Given the description of an element on the screen output the (x, y) to click on. 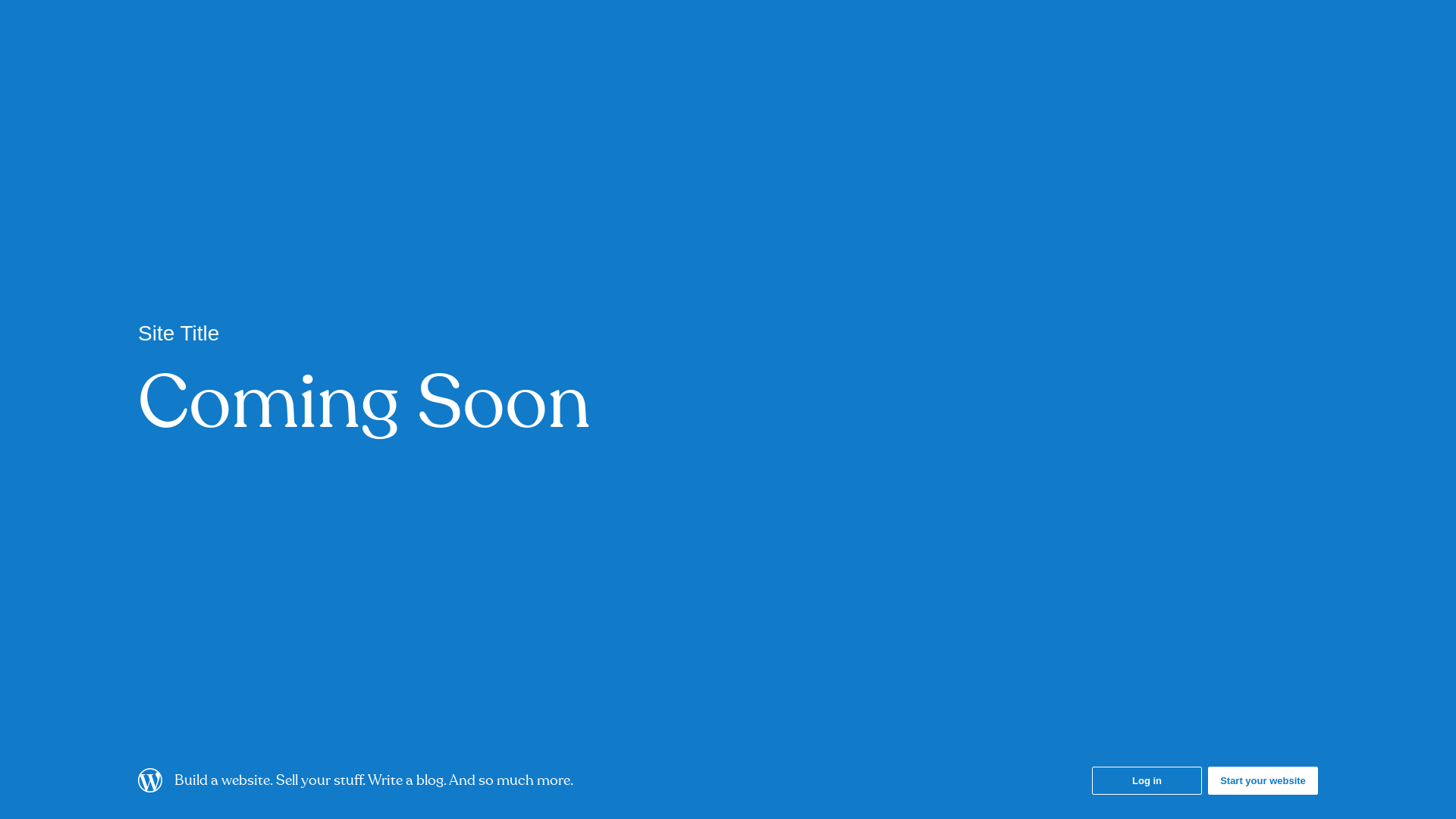
Start your website Element type: text (1262, 780)
Log in Element type: text (1146, 780)
